Given the description of an element on the screen output the (x, y) to click on. 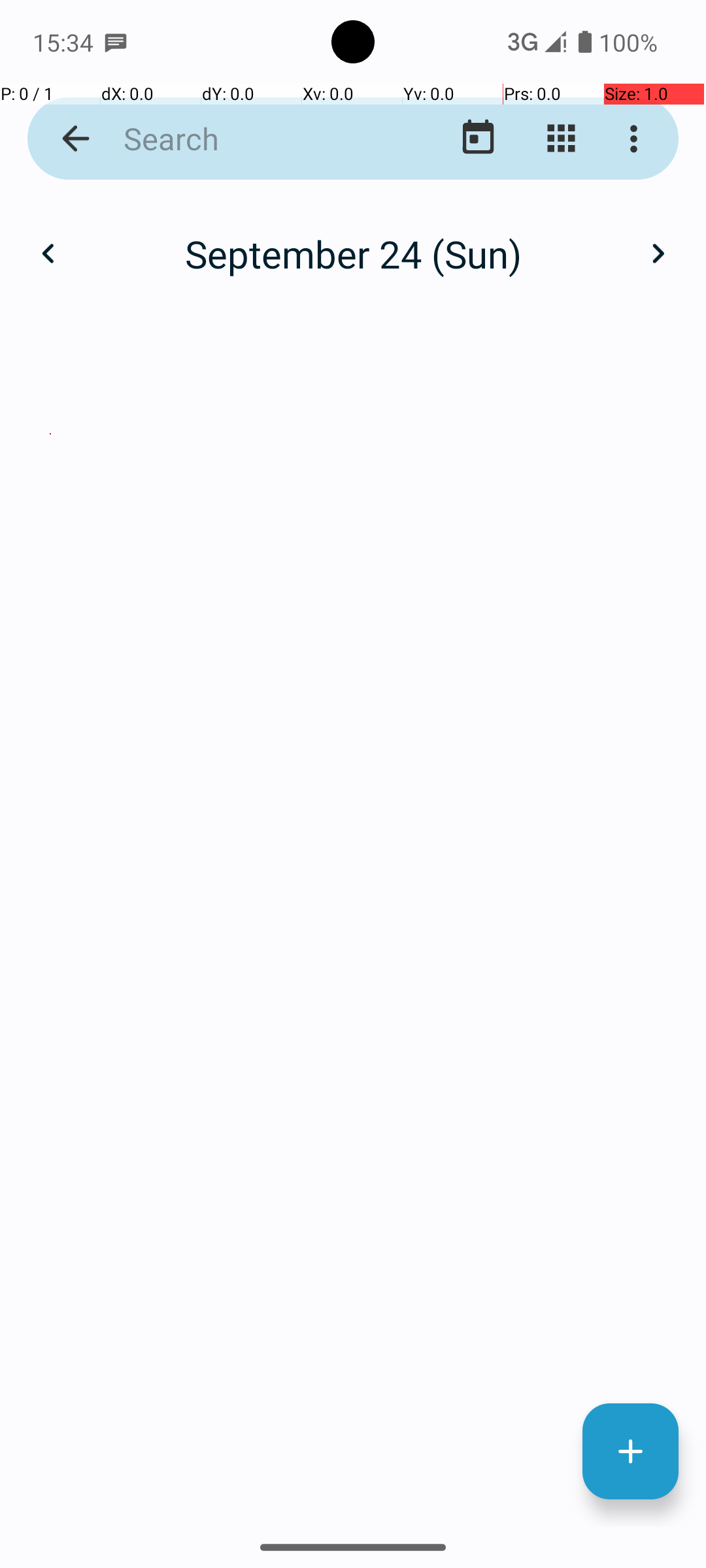
Go to today Element type: android.widget.Button (477, 138)
Change view Element type: android.widget.Button (560, 138)
New Event Element type: android.widget.ImageButton (630, 1451)
October Element type: android.widget.TextView (352, 239)
September 24 (Sun) Element type: android.widget.TextView (352, 253)
